Given the description of an element on the screen output the (x, y) to click on. 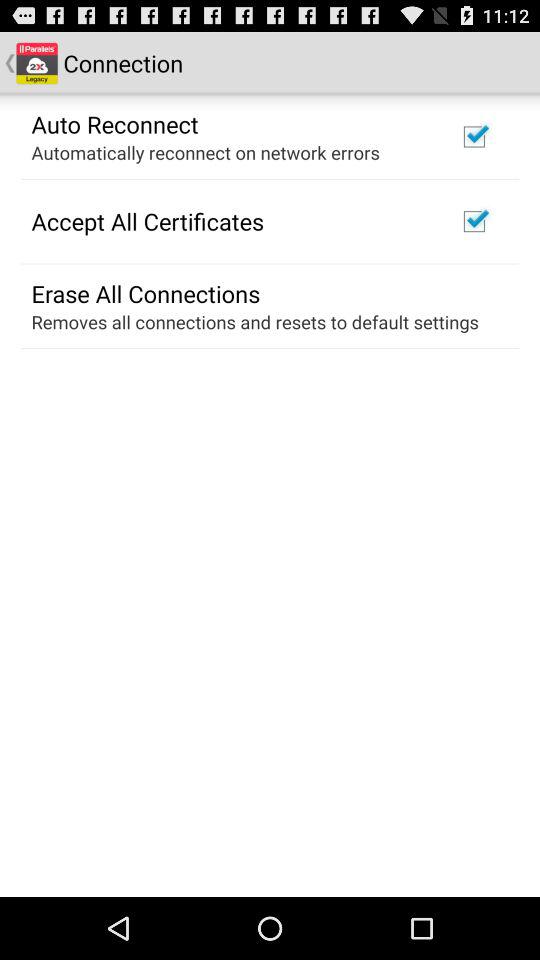
choose the item below the automatically reconnect on icon (147, 221)
